Given the description of an element on the screen output the (x, y) to click on. 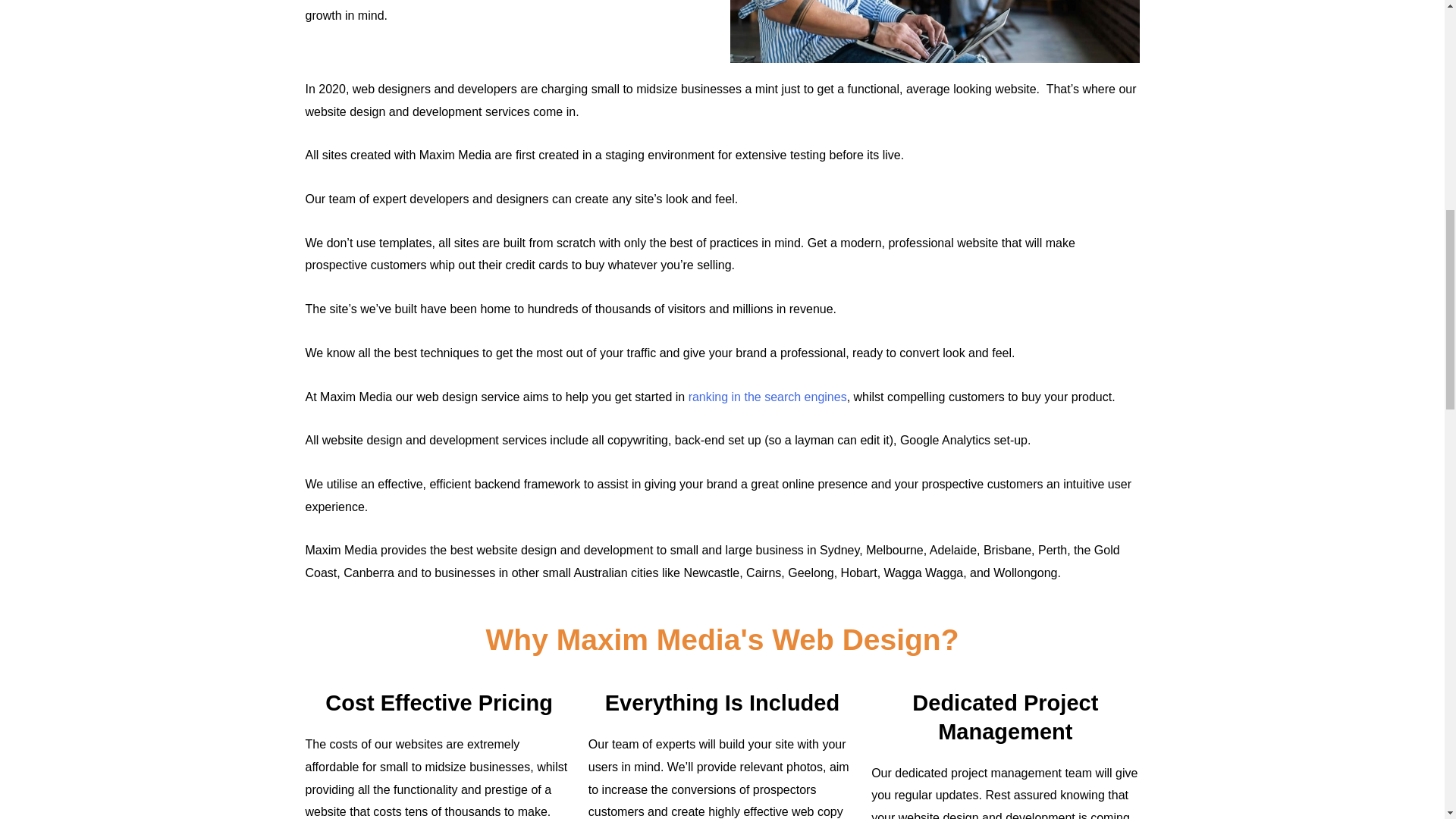
ranking in the search engines (767, 395)
